Given the description of an element on the screen output the (x, y) to click on. 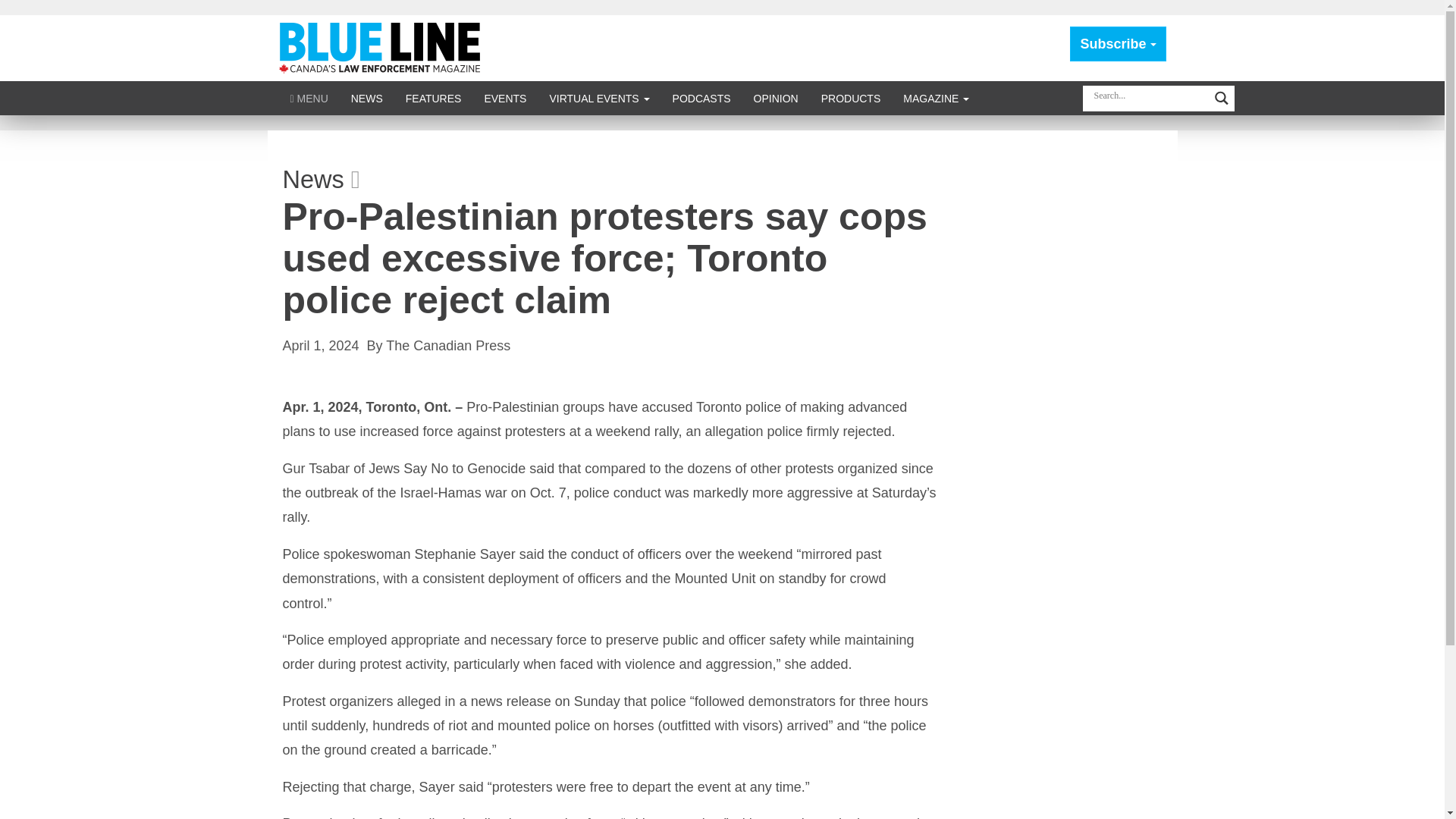
FEATURES (433, 98)
VIRTUAL EVENTS (599, 98)
NEWS (366, 98)
Subscribe (1118, 43)
PODCASTS (701, 98)
EVENTS (504, 98)
OPINION (775, 98)
Blue Line (381, 46)
Click to show site navigation (309, 98)
PRODUCTS (850, 98)
MAGAZINE (935, 98)
MENU (309, 98)
